Given the description of an element on the screen output the (x, y) to click on. 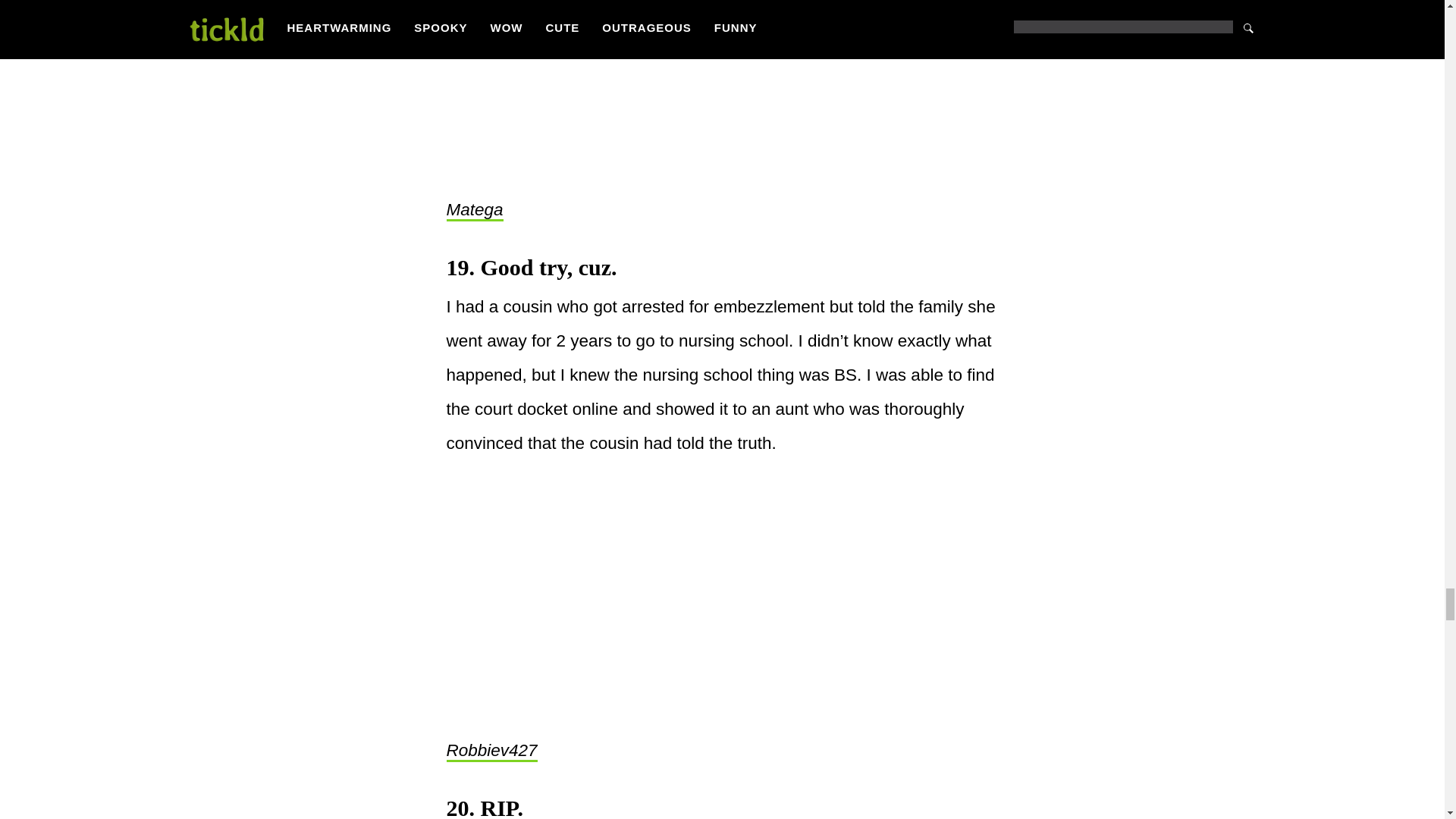
Matega (473, 210)
Robbiev427 (491, 751)
